Given the description of an element on the screen output the (x, y) to click on. 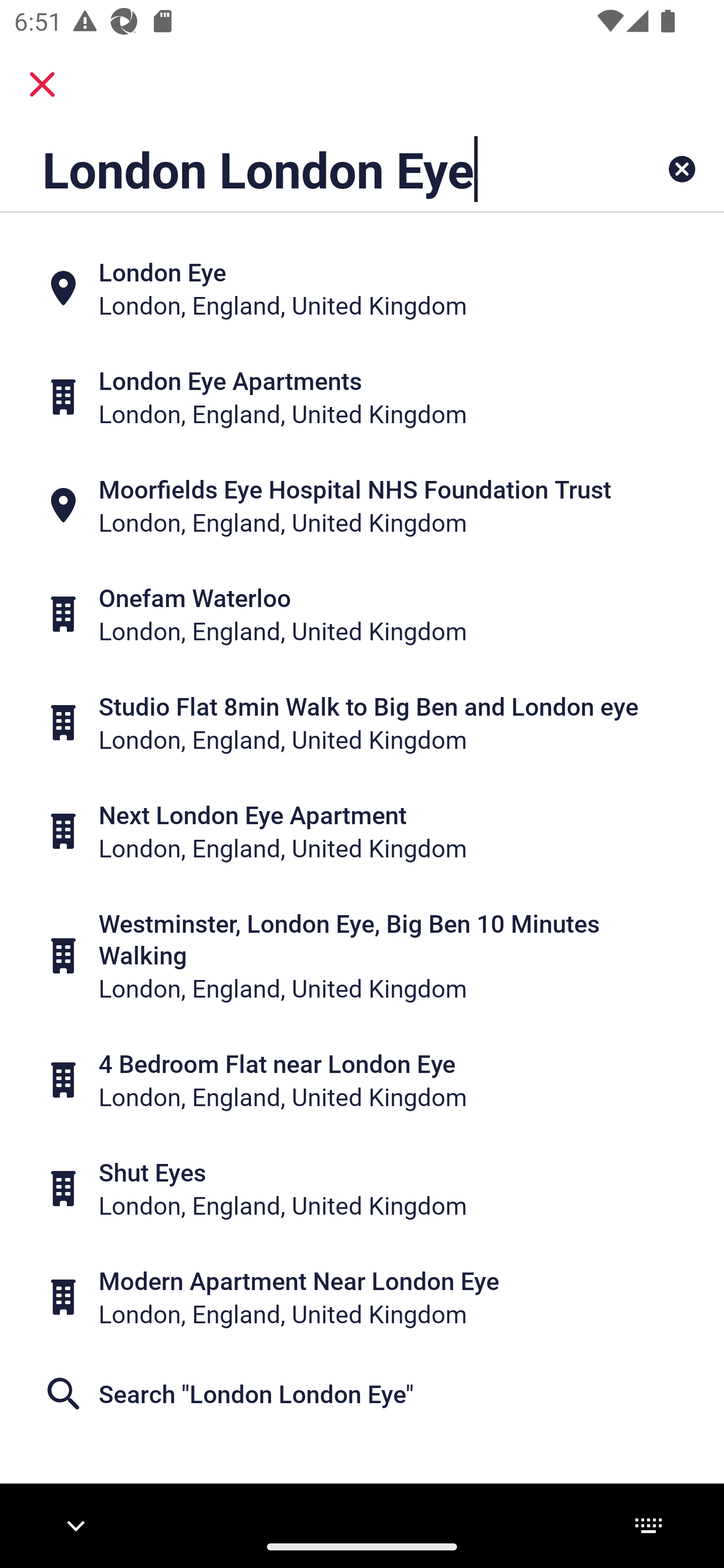
close. (42, 84)
Clear (681, 169)
London London Eye (298, 169)
London Eye London, England, United Kingdom (362, 288)
Onefam Waterloo London, England, United Kingdom (362, 613)
Shut Eyes London, England, United Kingdom (362, 1188)
Search "London London Eye" (362, 1393)
